Given the description of an element on the screen output the (x, y) to click on. 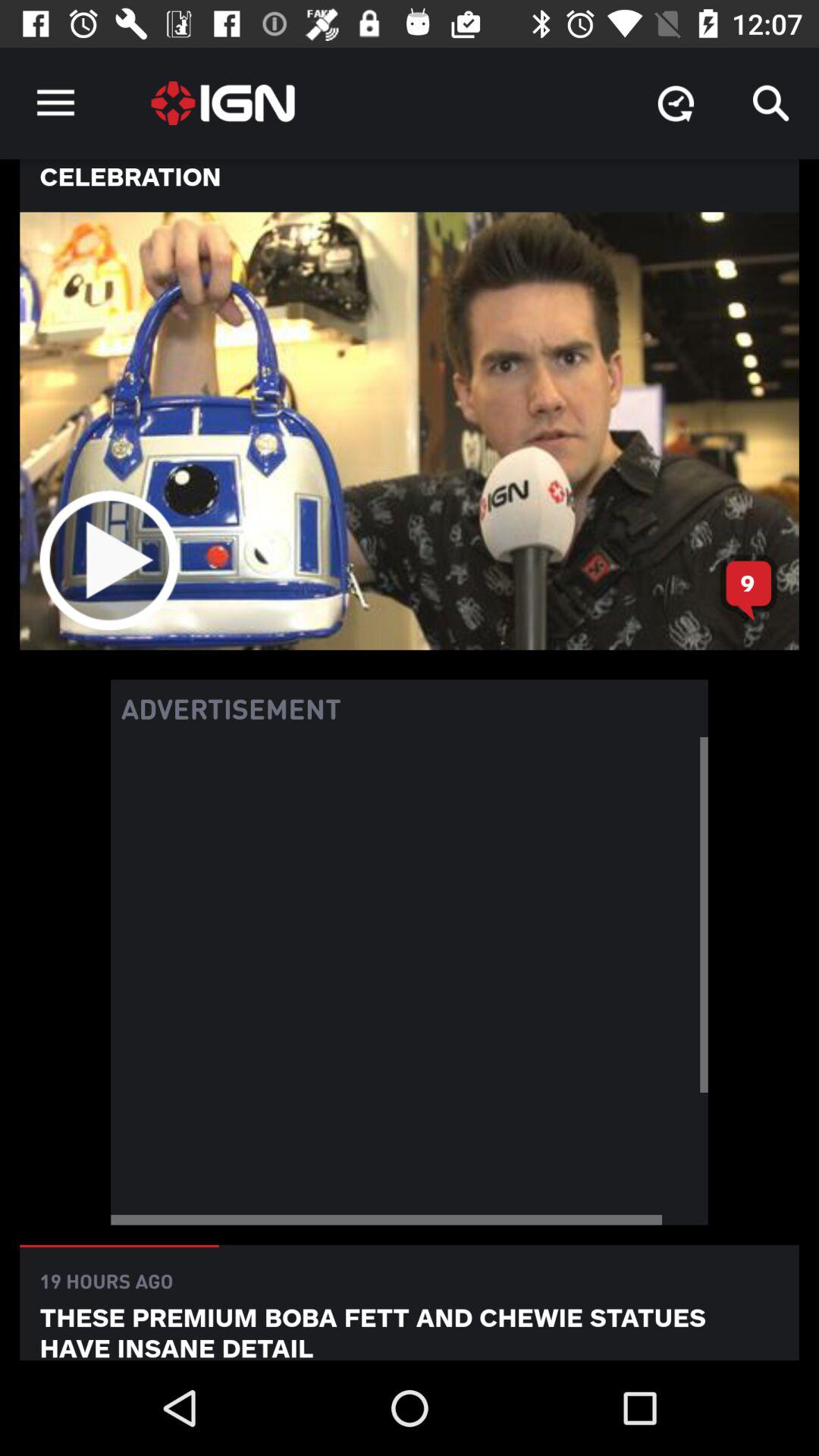
turn off the icon above none of these (675, 103)
